Given the description of an element on the screen output the (x, y) to click on. 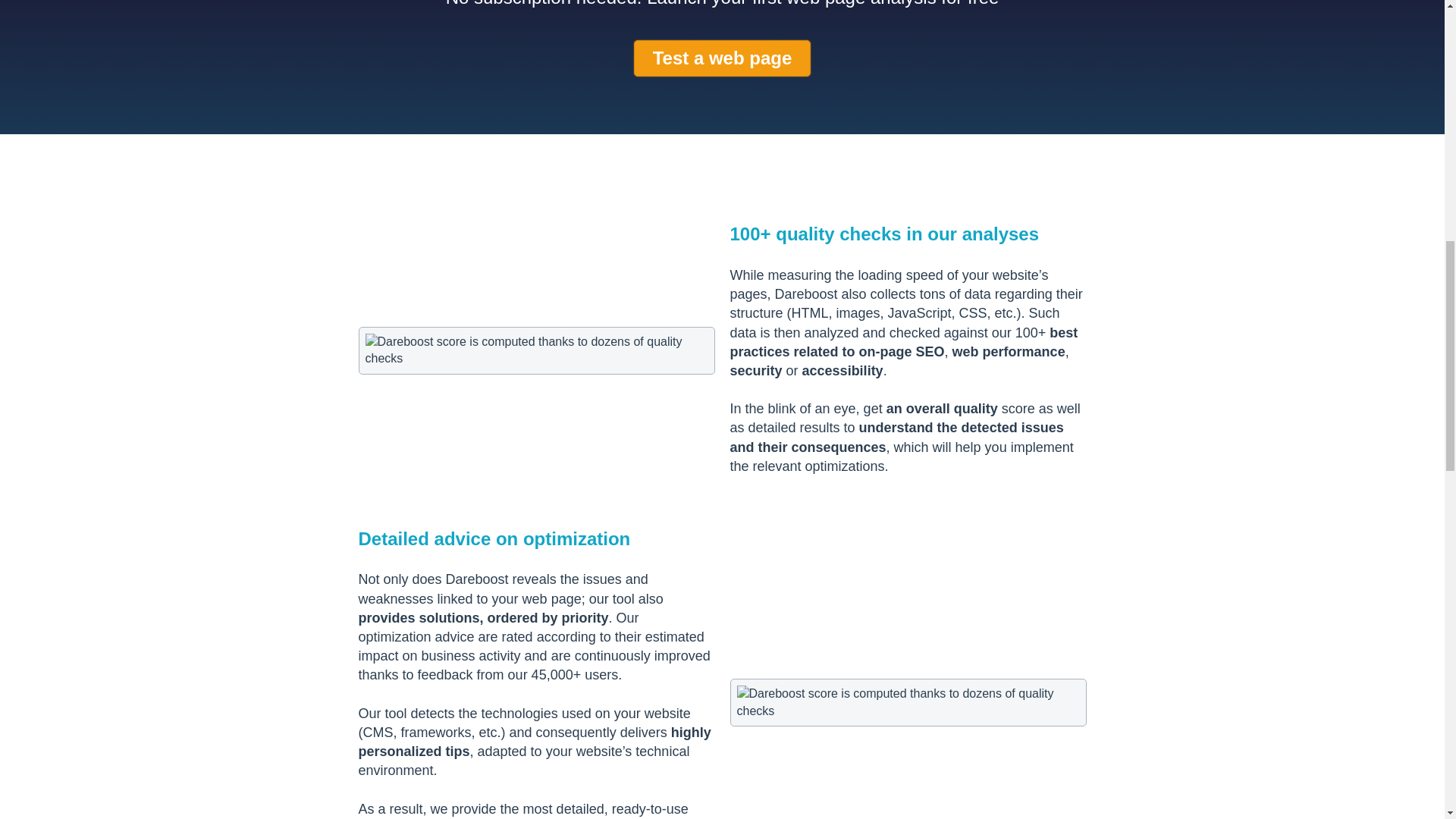
Test a web page (721, 58)
